Given the description of an element on the screen output the (x, y) to click on. 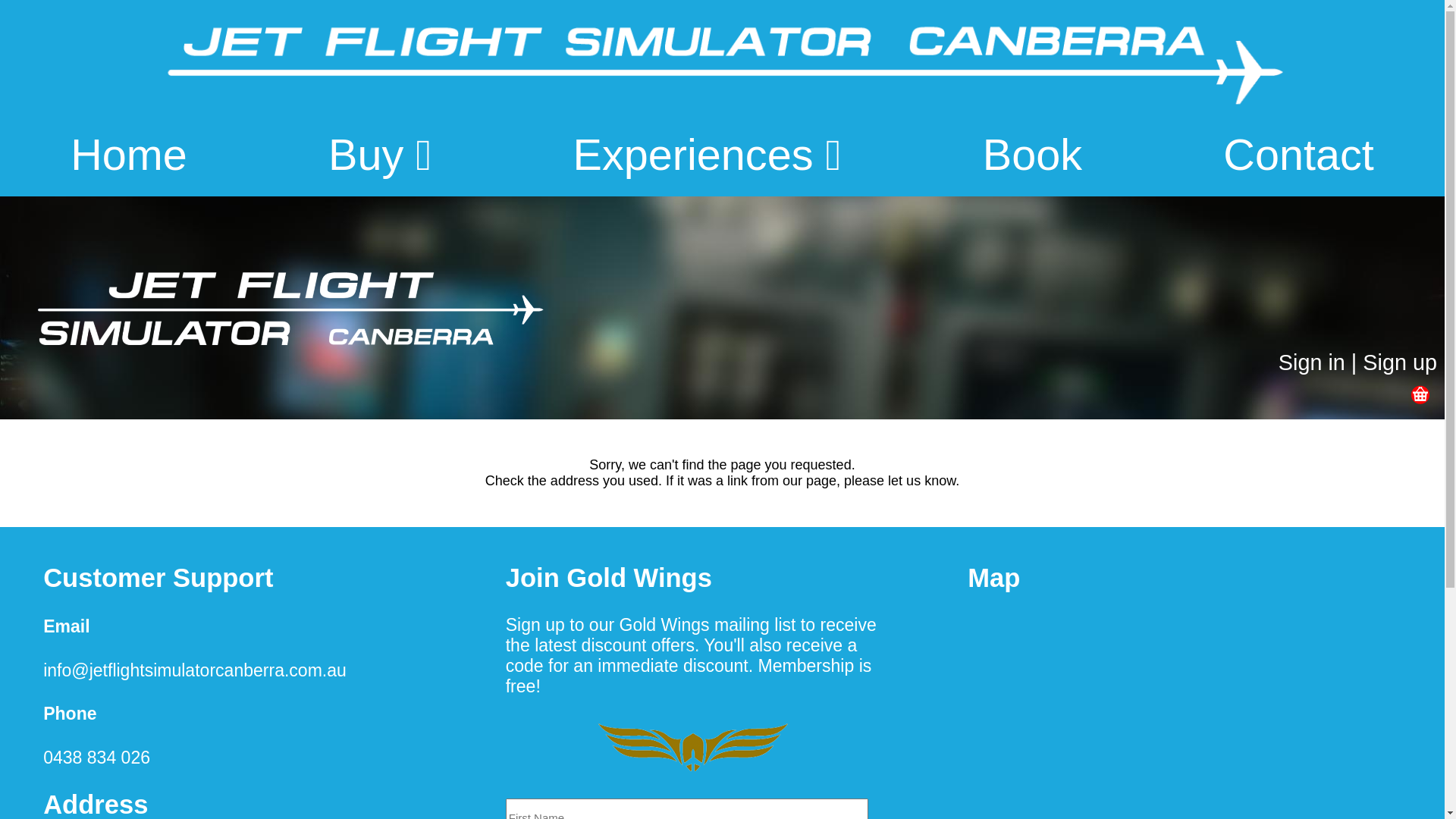
Home Element type: text (128, 156)
0438 834 026 Element type: text (96, 757)
Experiences Element type: text (707, 156)
info@jetflightsimulatorcanberra.com.au Element type: text (194, 670)
Book Element type: text (1032, 156)
Sign in | Sign up Element type: text (1357, 362)
Contact Element type: text (1298, 156)
Buy Element type: text (379, 156)
